Given the description of an element on the screen output the (x, y) to click on. 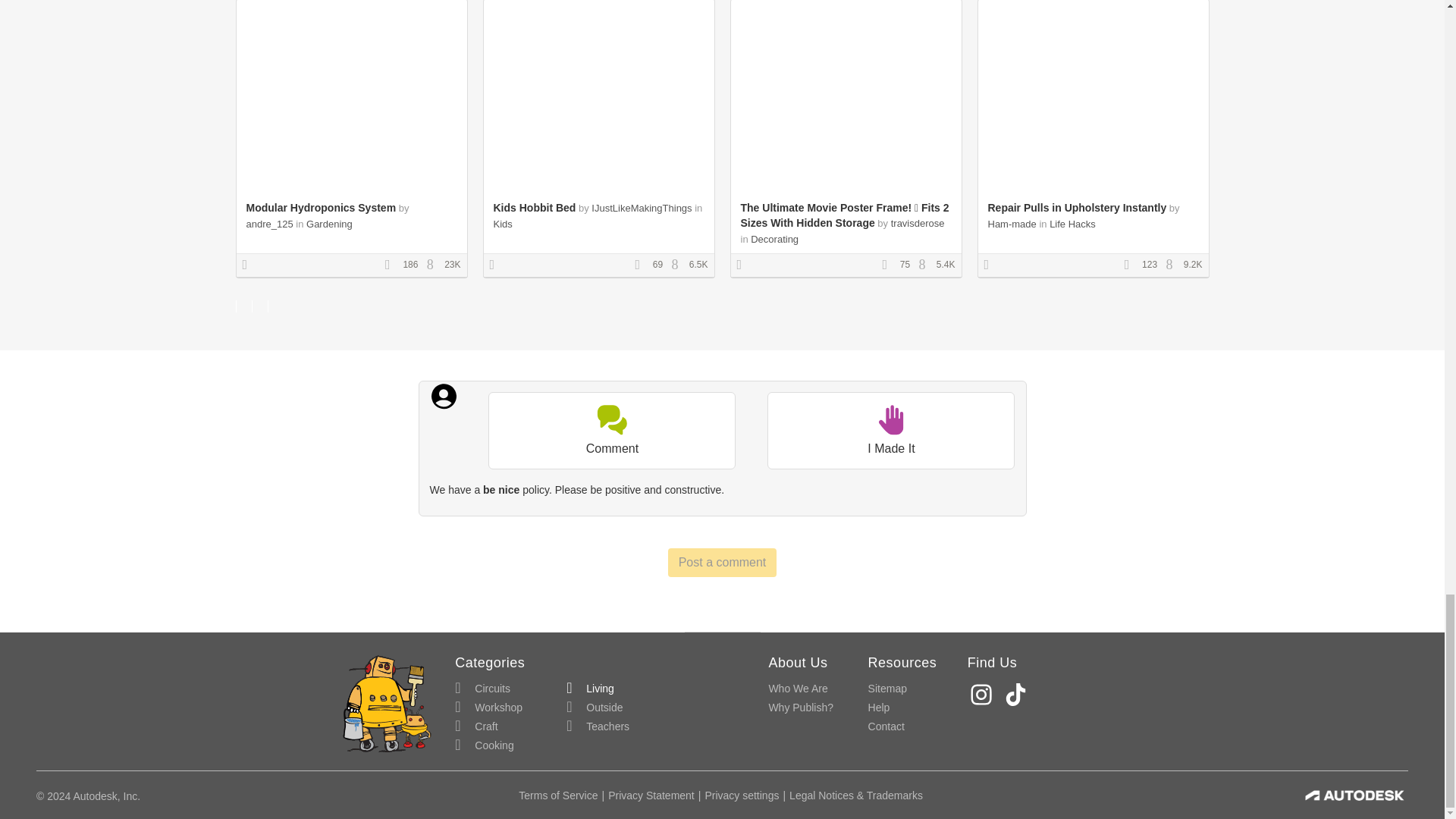
Favorites Count (641, 265)
Kids (502, 224)
Contest Winner (497, 265)
Favorites Count (1132, 265)
Favorites Count (889, 265)
Kids Hobbit Bed (534, 207)
Views Count (434, 265)
Contest Winner (250, 265)
Contest Winner (991, 265)
Instagram (983, 694)
Views Count (1173, 265)
IJustLikeMakingThings (641, 207)
Modular Hydroponics System (321, 207)
Favorites Count (392, 265)
Contest Winner (744, 265)
